Given the description of an element on the screen output the (x, y) to click on. 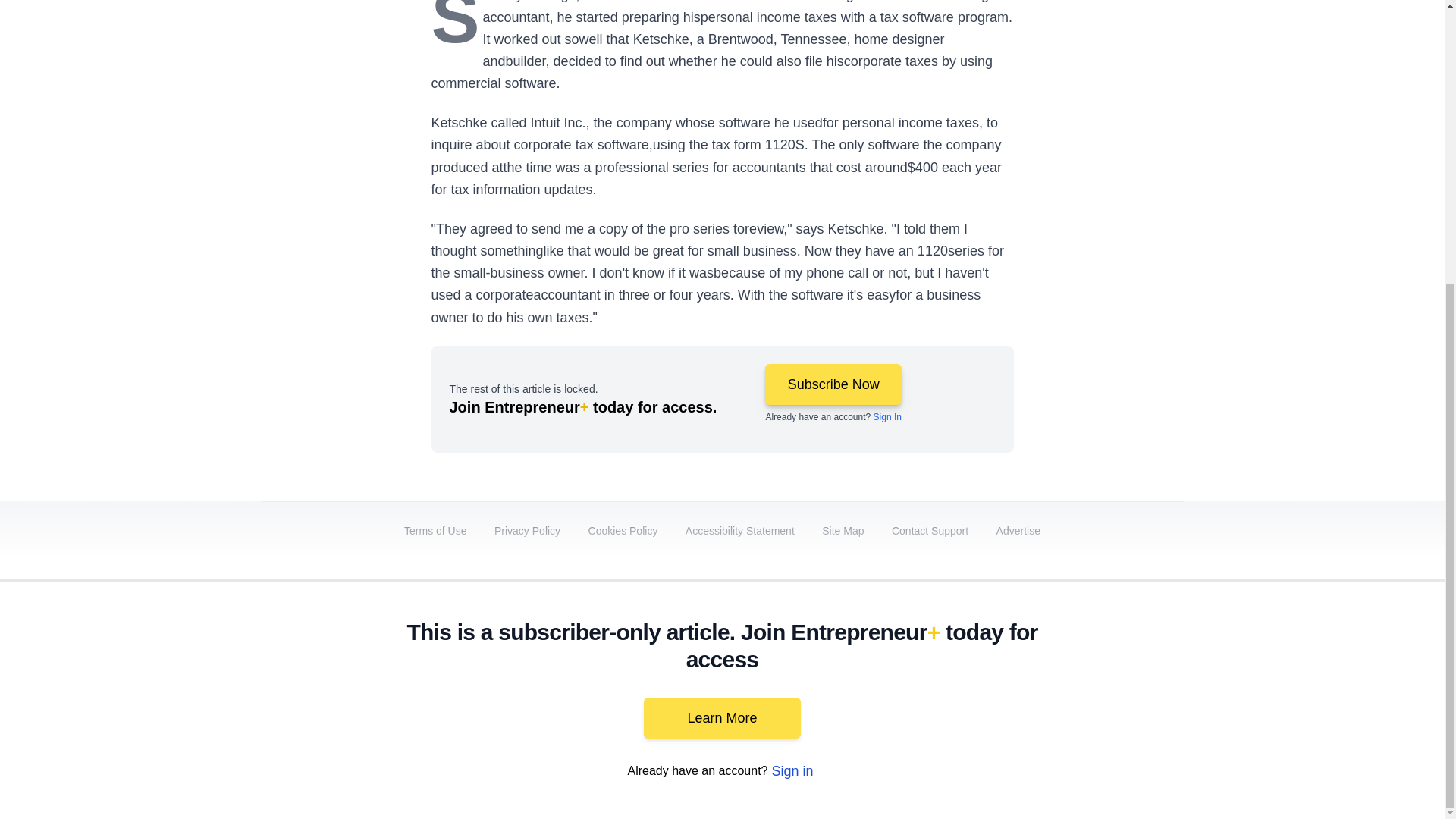
tiktok (1079, 691)
instagram (1037, 691)
snapchat (1121, 691)
linkedin (952, 691)
twitter (909, 691)
rss (1164, 691)
facebook (866, 691)
youtube (994, 691)
